Given the description of an element on the screen output the (x, y) to click on. 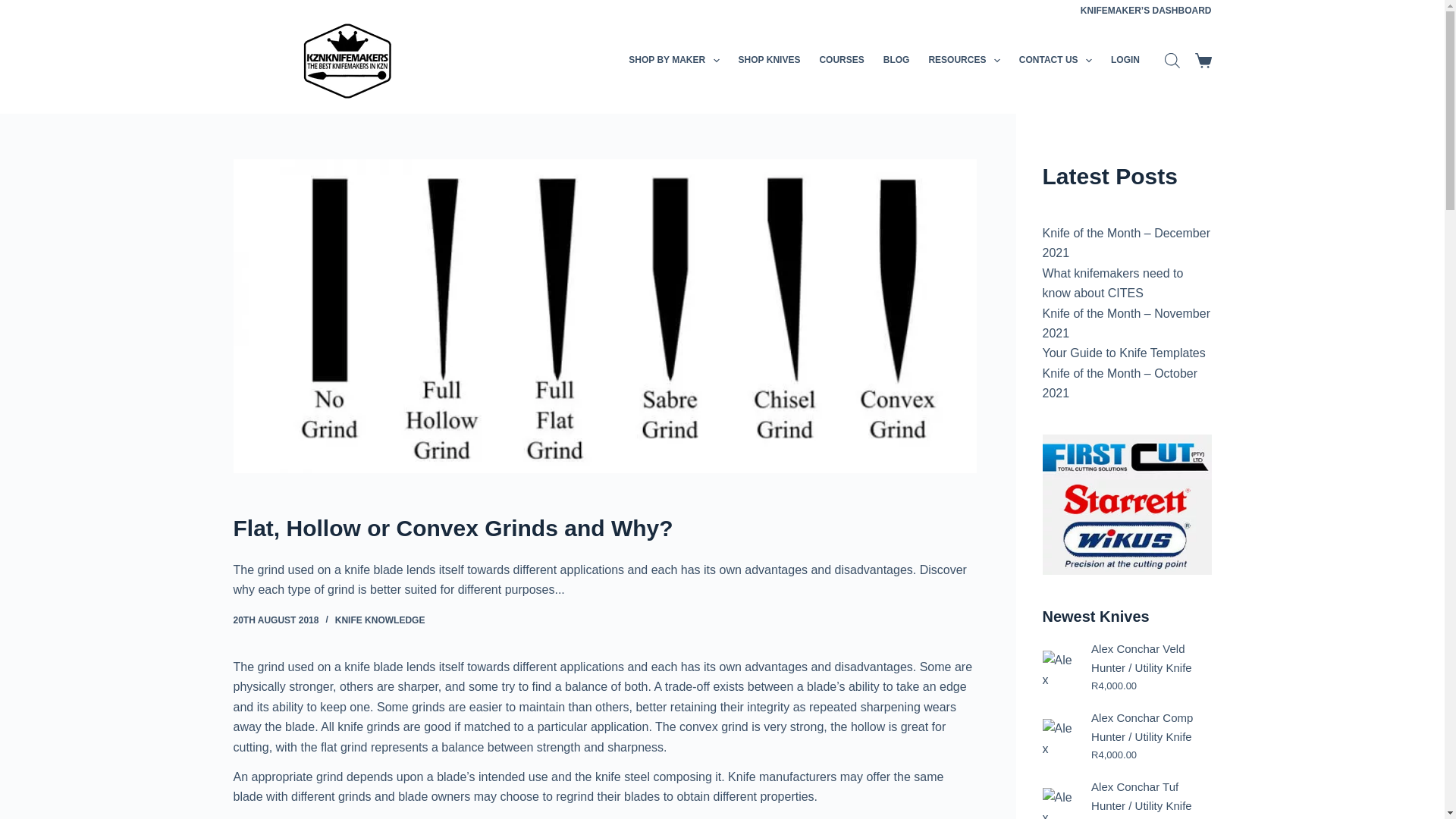
Flat, Hollow or Convex Grinds and Why? (604, 528)
Alex Conchar Tuf Hunter Utility Knife (1058, 803)
Alex Conchar Hunter Utility Knife Blue (1058, 667)
SHOP BY MAKER (674, 60)
Skip to content (15, 7)
Alex Conchar Hunter Utility Knife Comp (1058, 735)
